Given the description of an element on the screen output the (x, y) to click on. 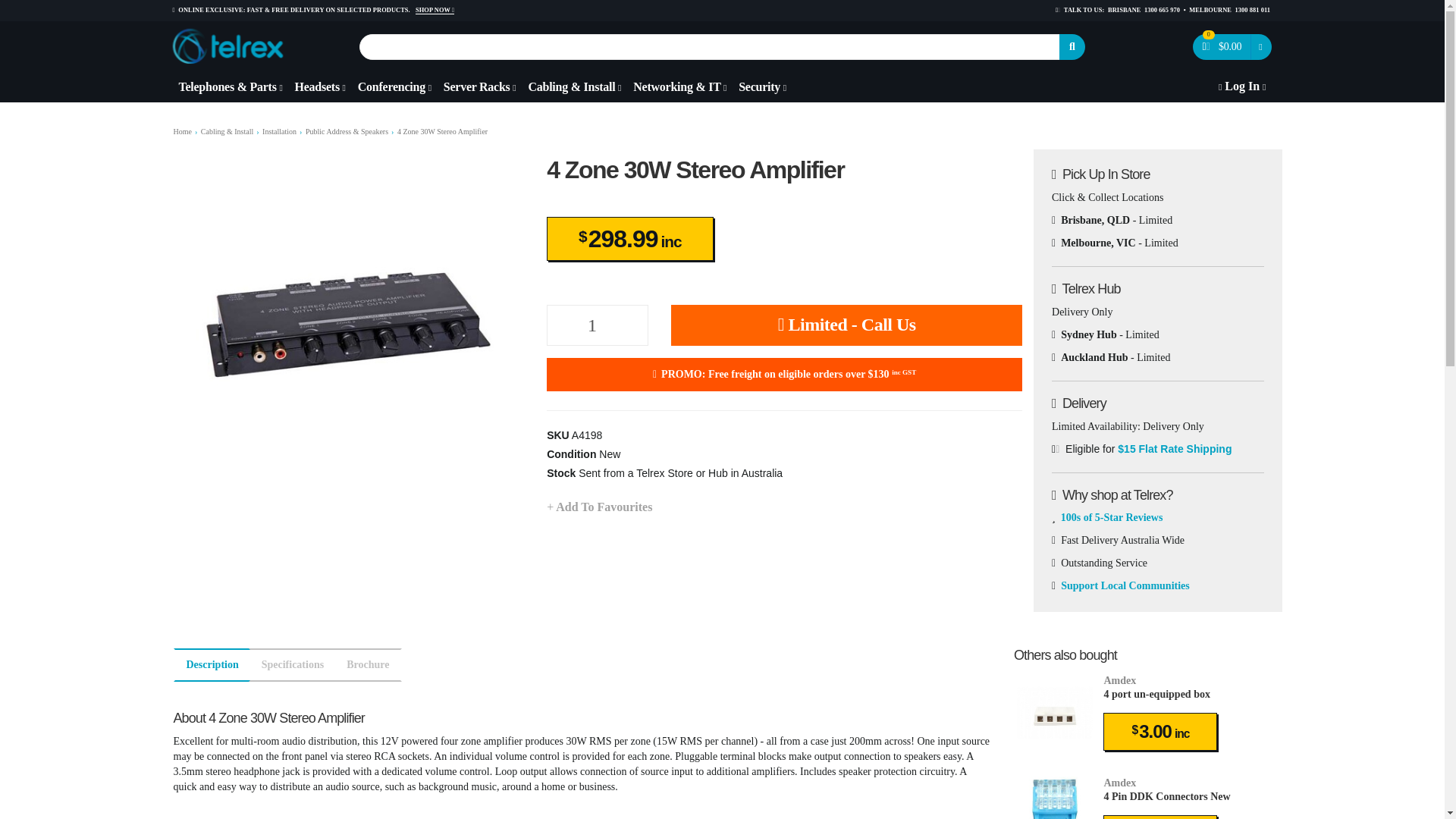
1 (597, 324)
MELBOURNE  1300 881 011 (1229, 9)
Add 4 Zone 30W Stereo Amplifier to Cart (846, 324)
SHOP NOW (434, 10)
Search (1071, 46)
Add To Wishlist (599, 506)
BRISBANE  1300 665 970 (1143, 9)
